Given the description of an element on the screen output the (x, y) to click on. 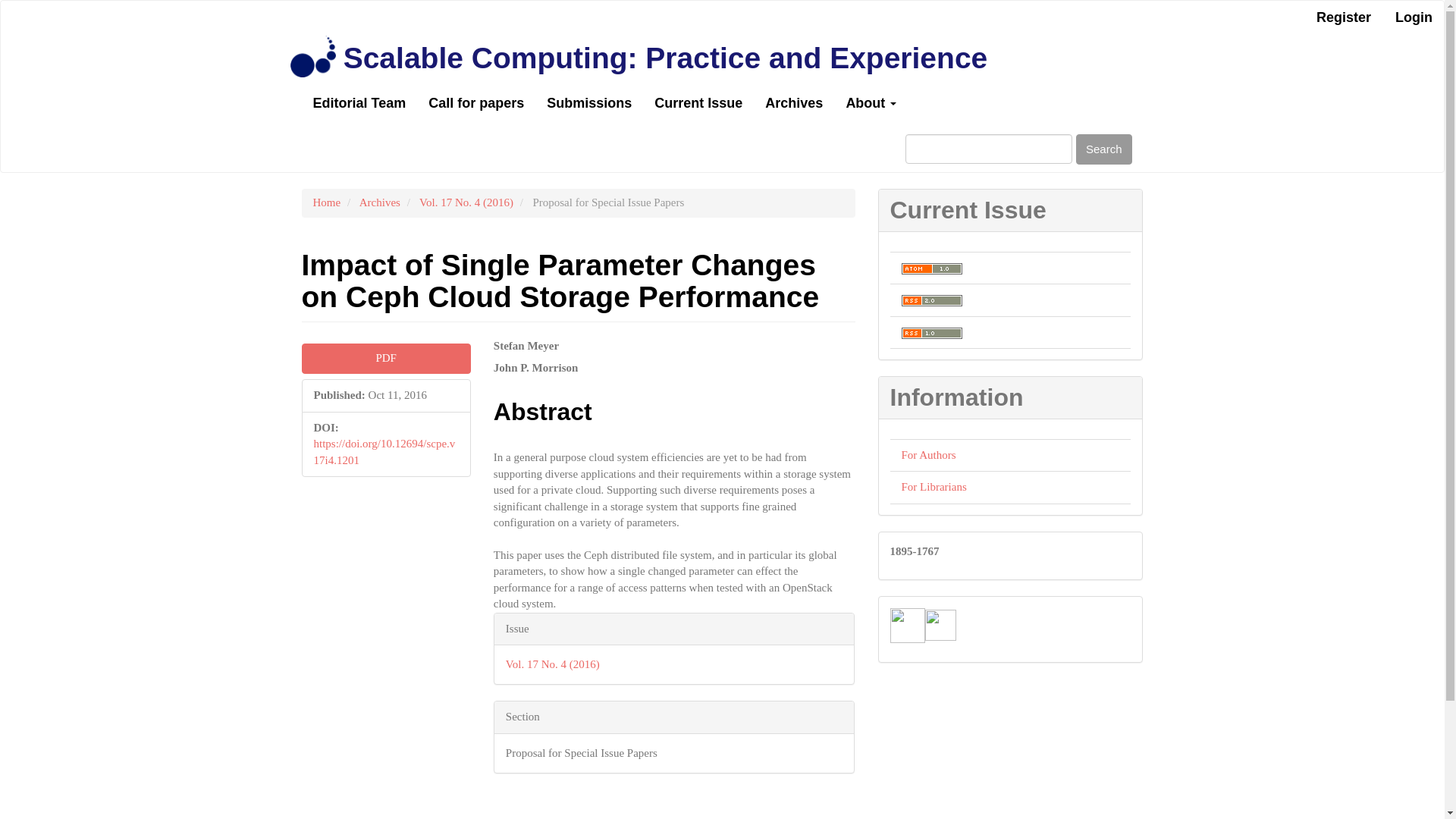
For Authors (928, 454)
Call for papers (475, 103)
For Librarians (933, 486)
Home (326, 202)
PDF (385, 358)
Current Issue (698, 103)
Scalable Computing: Practice and Experience (664, 58)
Login (1414, 18)
Search (1103, 148)
About (870, 103)
Register (1342, 18)
Archives (794, 103)
Submissions (589, 103)
Editorial Team (359, 103)
Archives (379, 202)
